Given the description of an element on the screen output the (x, y) to click on. 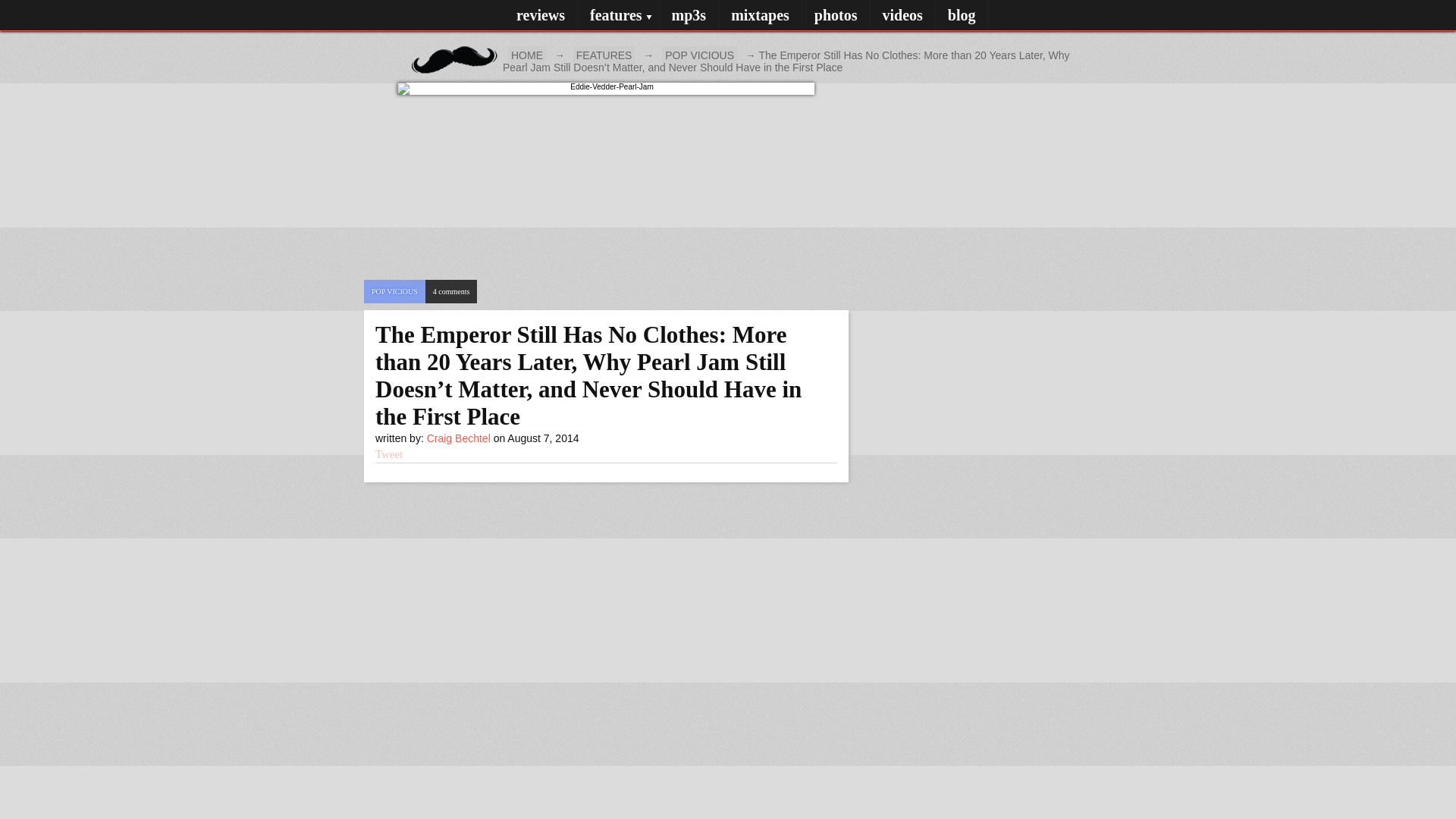
reviews (539, 15)
videos (902, 15)
photos (835, 15)
features (618, 15)
mixtapes (760, 15)
mp3s (689, 15)
HOME (527, 54)
POP VICIOUS (431, 45)
FEATURES (699, 54)
blog (603, 54)
